Given the description of an element on the screen output the (x, y) to click on. 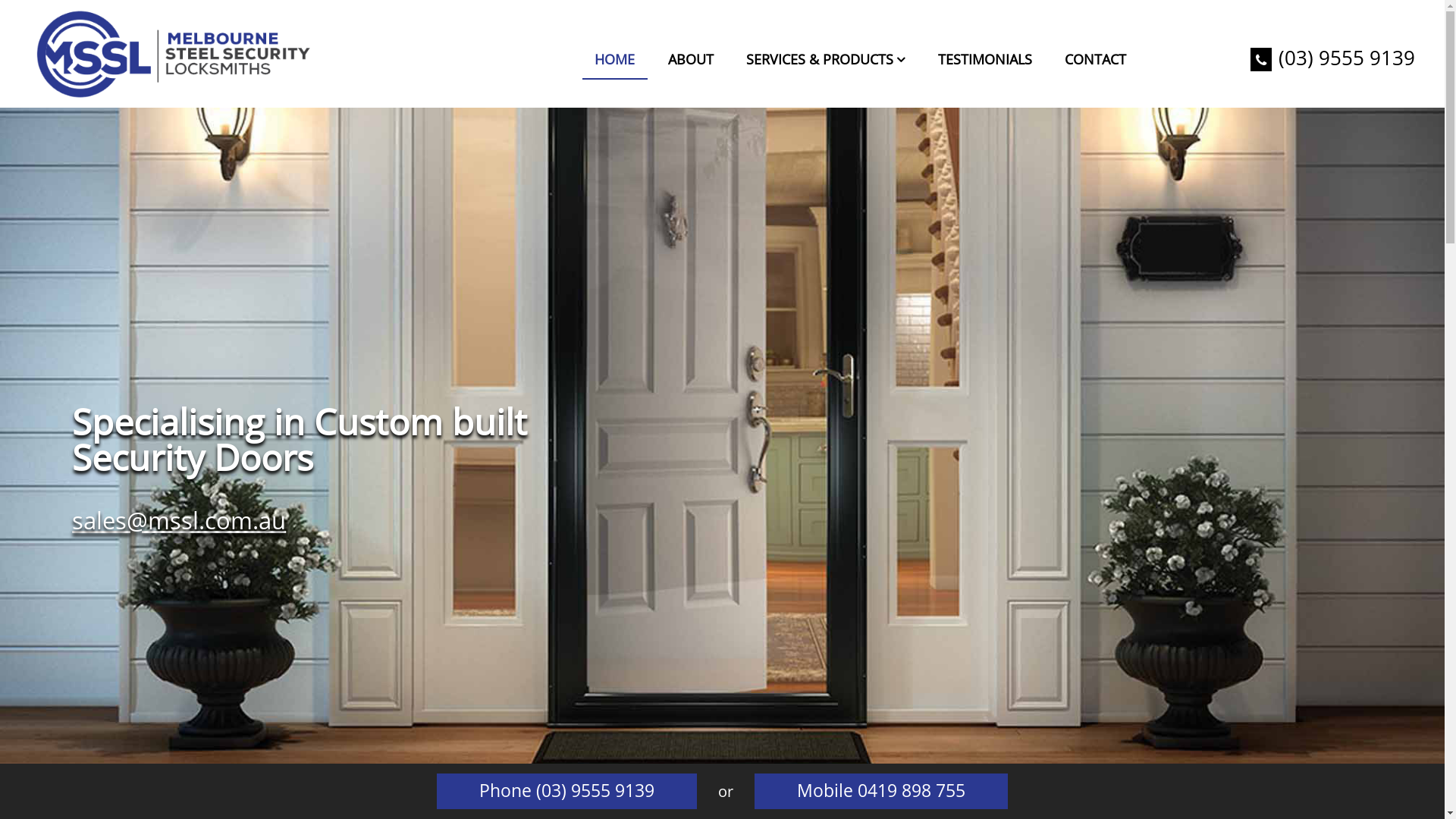
(03) 9555 9139 Element type: text (1332, 57)
TESTIMONIALS Element type: text (984, 60)
SERVICES & PRODUCTS Element type: text (824, 60)
Phone (03) 9555 9139 Element type: text (566, 791)
CONTACT Element type: text (1095, 60)
Mobile 0419 898 755 Element type: text (880, 791)
ABOUT Element type: text (689, 60)
HOME Element type: text (614, 60)
sales@mssl.com.au Element type: text (178, 520)
